Given the description of an element on the screen output the (x, y) to click on. 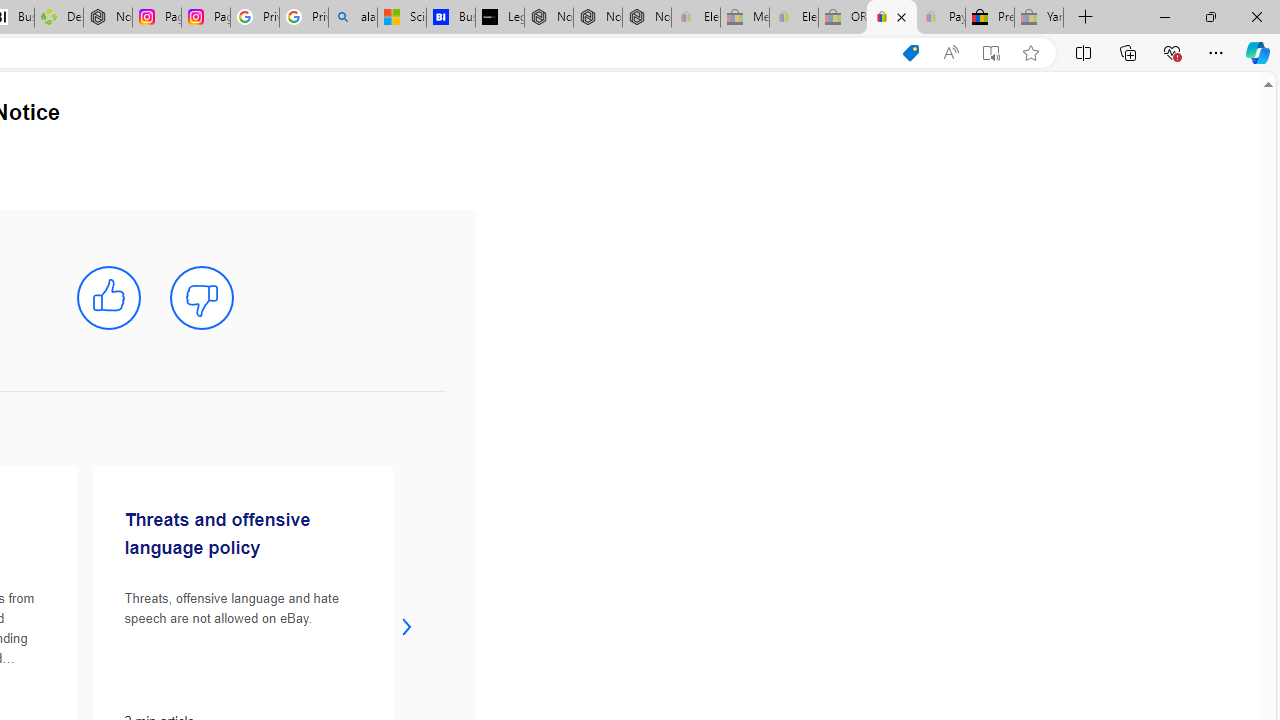
Yard, Garden & Outdoor Living - Sleeping (1039, 17)
mark this article helpful (108, 298)
mark this article not helpful (201, 298)
Press Room - eBay Inc. (989, 17)
